Given the description of an element on the screen output the (x, y) to click on. 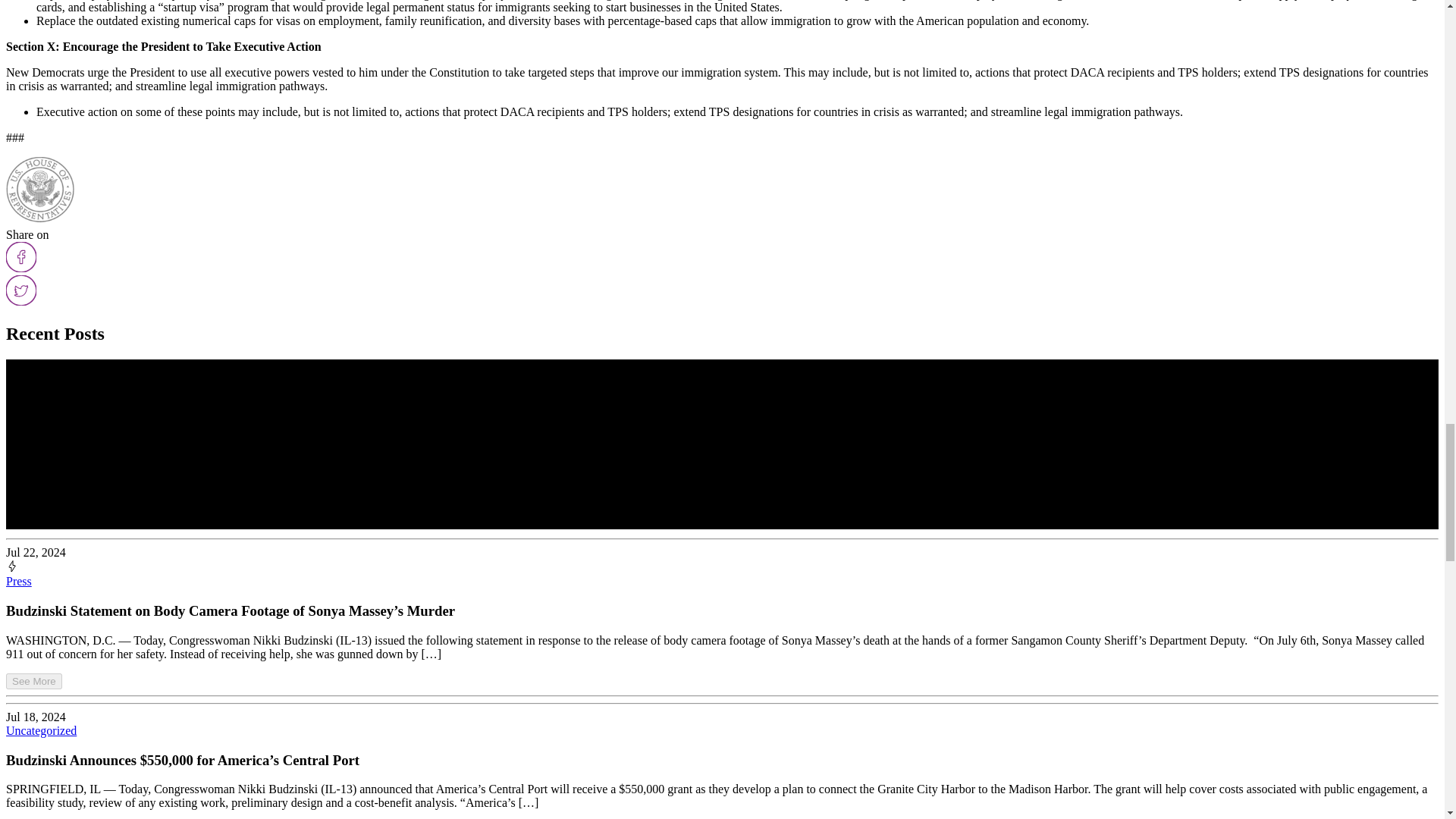
See More (33, 680)
See More (33, 681)
